Given the description of an element on the screen output the (x, y) to click on. 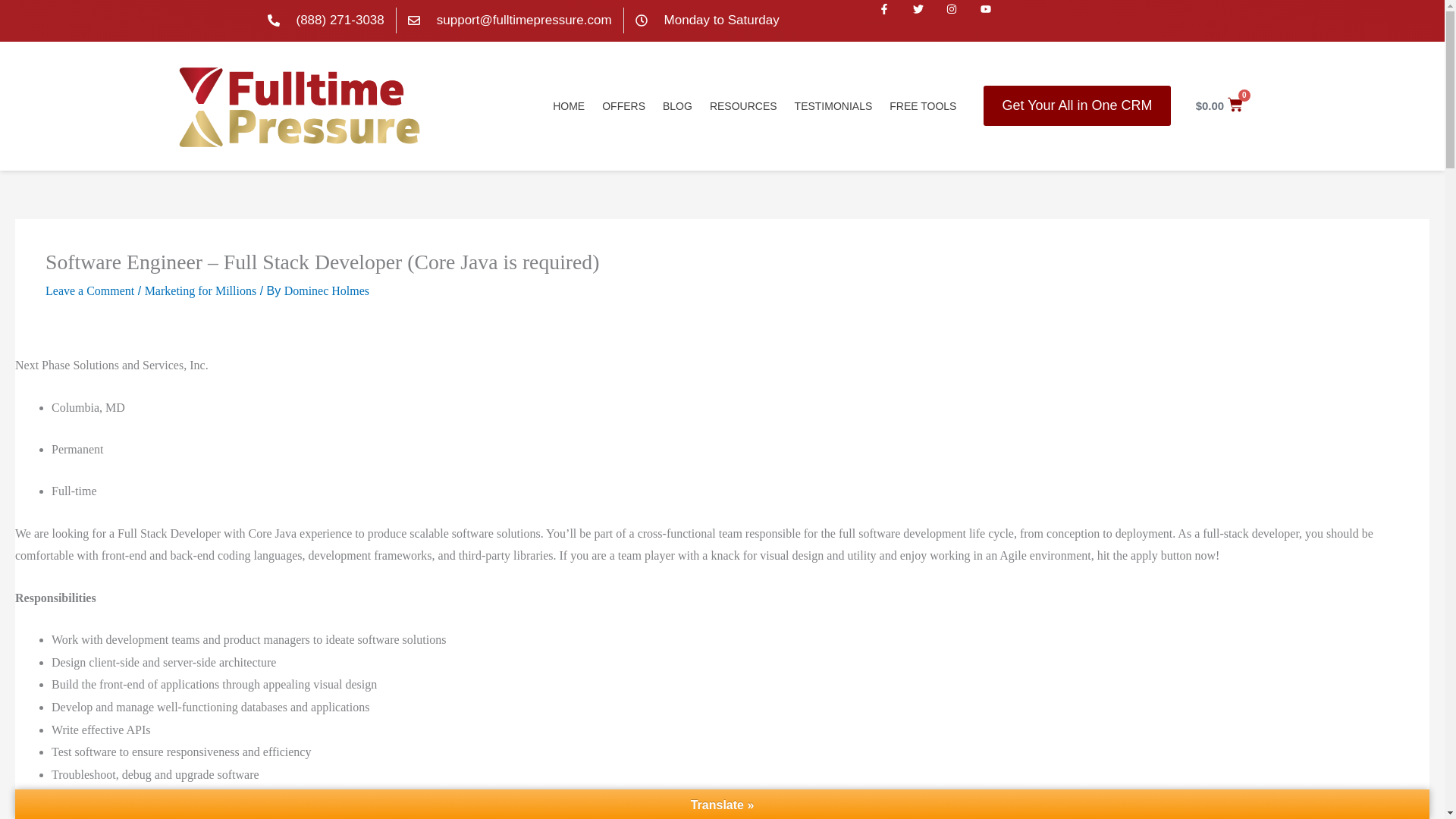
FREE TOOLS (922, 105)
View all posts by Dominec Holmes (326, 290)
TESTIMONIALS (833, 105)
Twitter (929, 20)
Instagram (962, 20)
Youtube (996, 20)
BLOG (677, 105)
OFFERS (623, 105)
Facebook-f (895, 20)
HOME (568, 105)
